Given the description of an element on the screen output the (x, y) to click on. 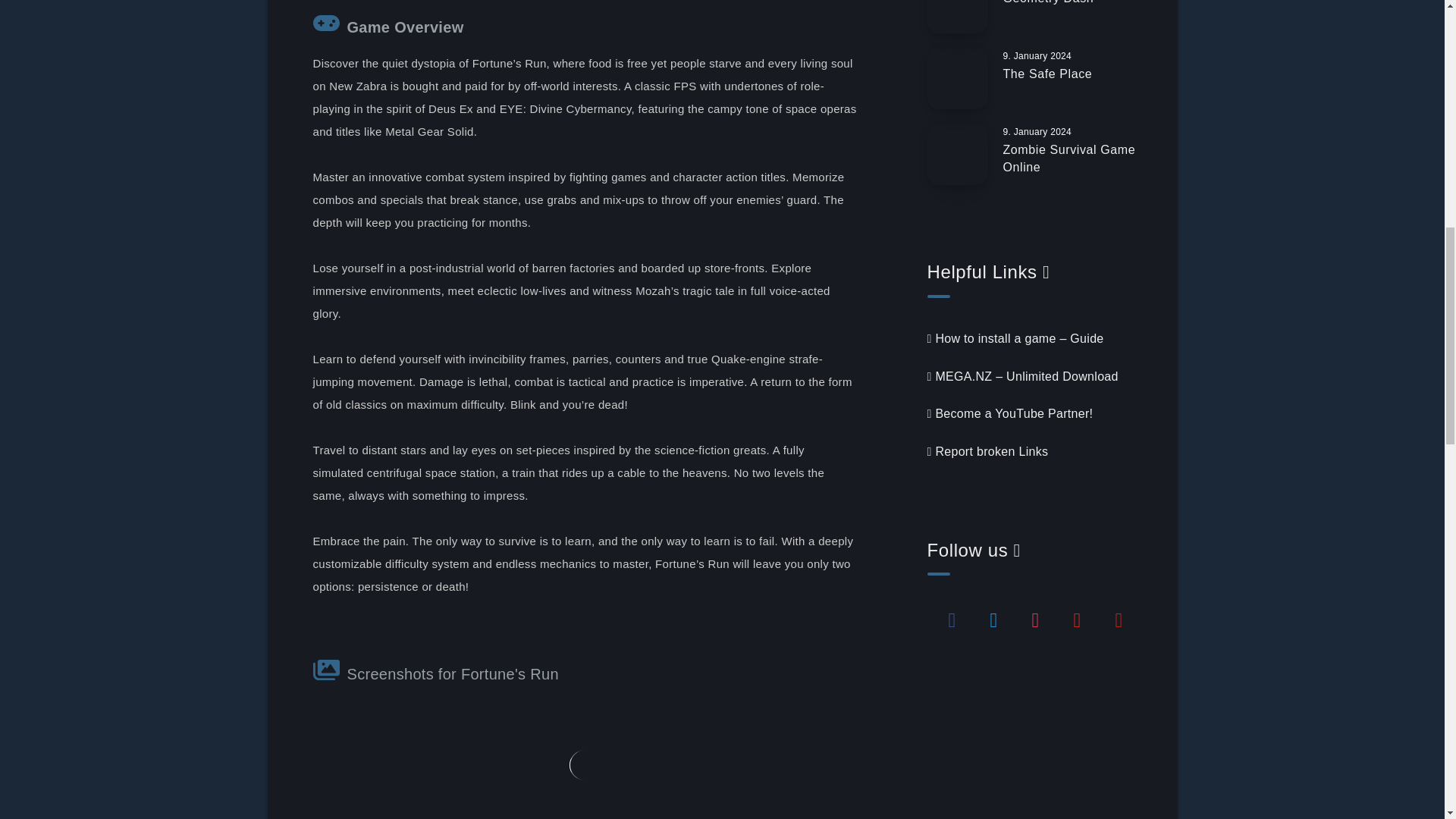
Geometry Dash (1048, 4)
The Safe Place (1047, 75)
Zombie Survival Game Online (1069, 160)
